Given the description of an element on the screen output the (x, y) to click on. 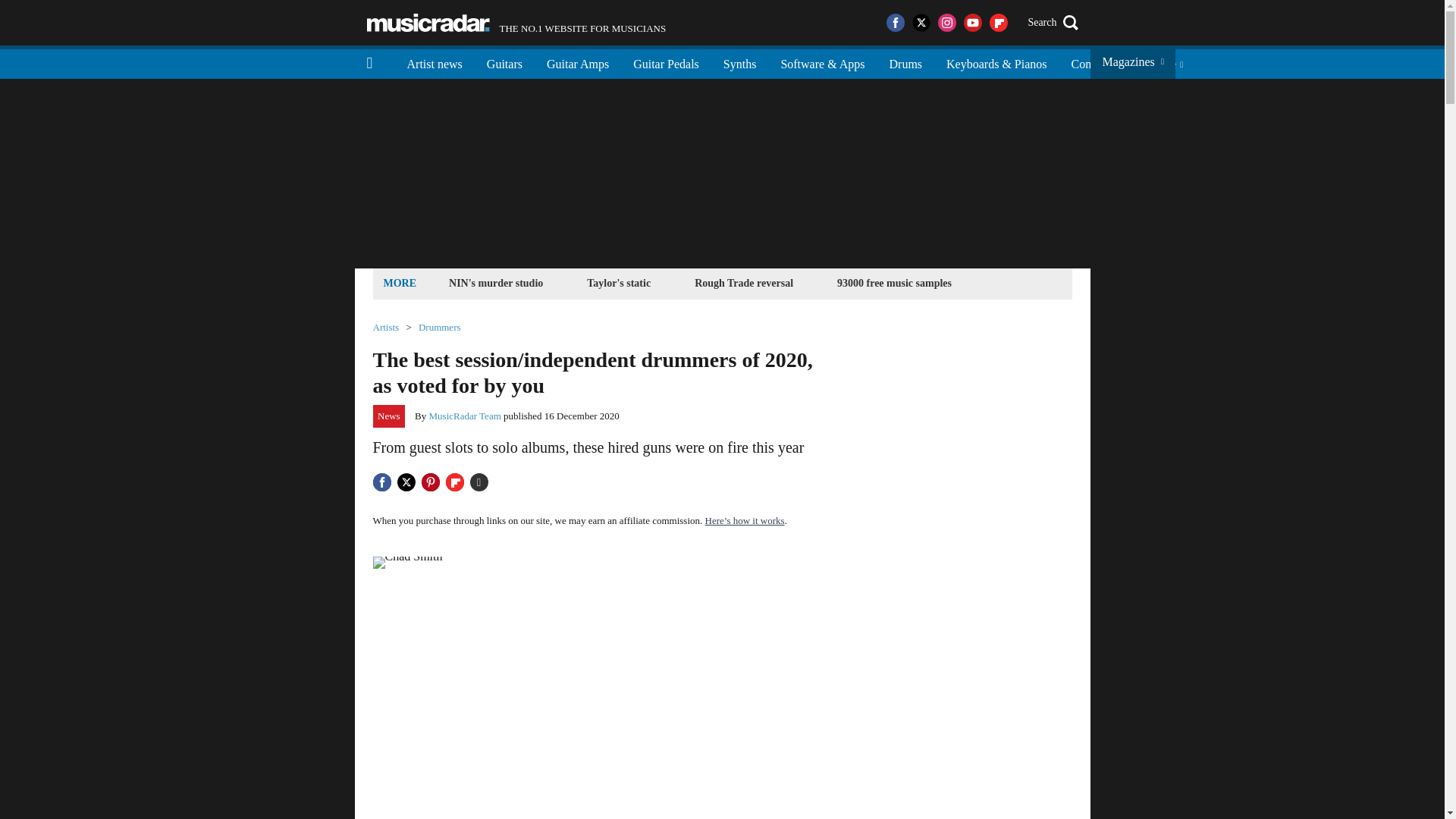
Synths (739, 61)
Taylor's static (618, 282)
Guitar Amps (577, 61)
Guitars (516, 22)
Drums (504, 61)
Music Radar (905, 61)
Rough Trade reversal (427, 22)
Controllers (742, 282)
Artist news (1097, 61)
